Given the description of an element on the screen output the (x, y) to click on. 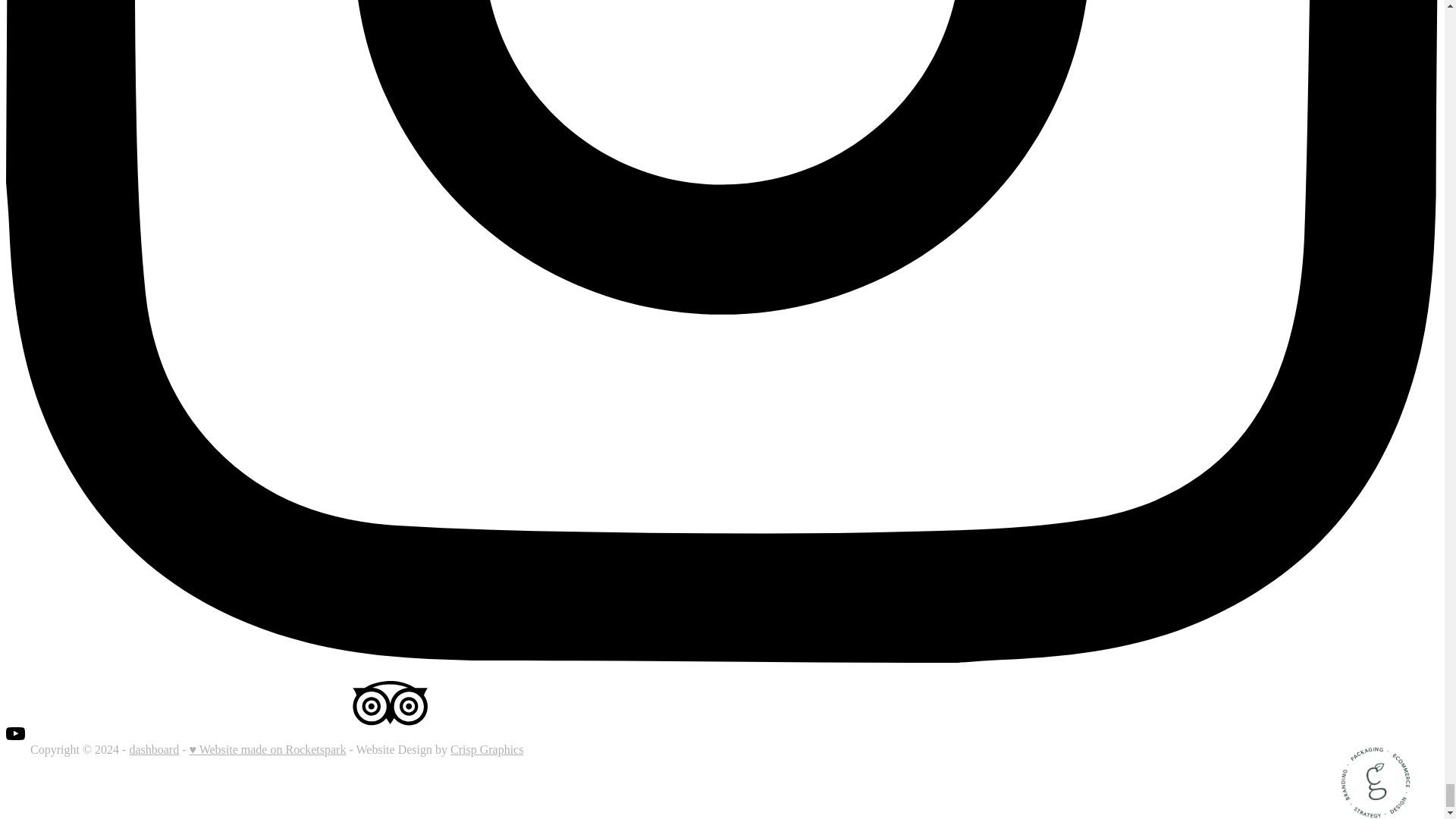
A link to this website's Youtube. (14, 735)
